Given the description of an element on the screen output the (x, y) to click on. 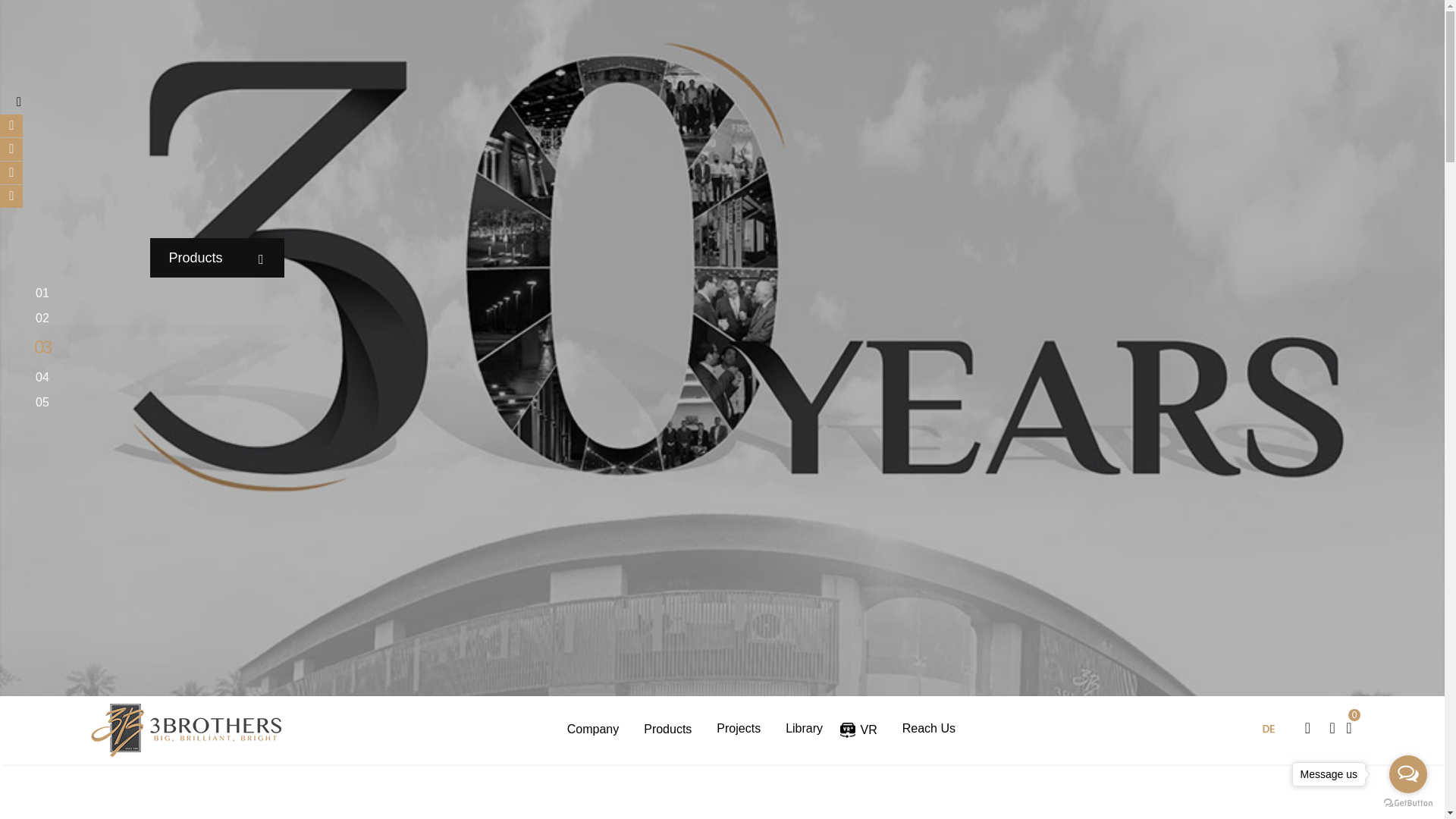
My Account Element type: hover (1331, 727)
Follow on Facebook Element type: hover (11, 125)
1 Element type: text (45, 292)
Products Element type: text (668, 728)
Deutsch Element type: hover (1268, 729)
Company Element type: text (593, 728)
VR Element type: text (863, 730)
Visit on Youtube Element type: hover (11, 172)
5 Element type: text (45, 402)
Visit on Instagram Element type: hover (11, 196)
3 Element type: text (46, 348)
Visit on LinkedIn Element type: hover (11, 149)
2 Element type: text (45, 317)
3Brothersx Element type: hover (185, 729)
4 Element type: text (45, 376)
